Given the description of an element on the screen output the (x, y) to click on. 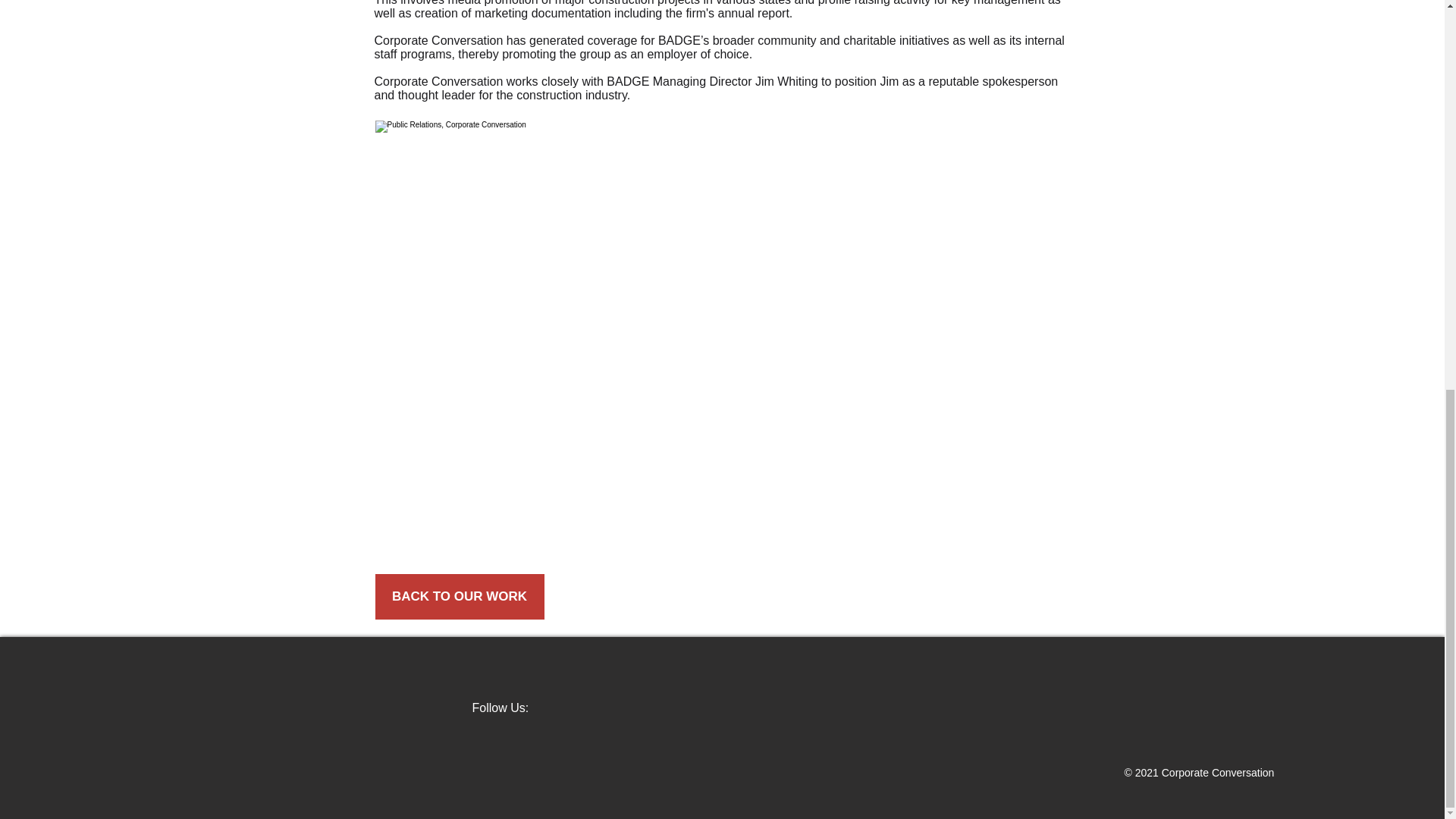
BACK TO OUR WORK (458, 596)
